Given the description of an element on the screen output the (x, y) to click on. 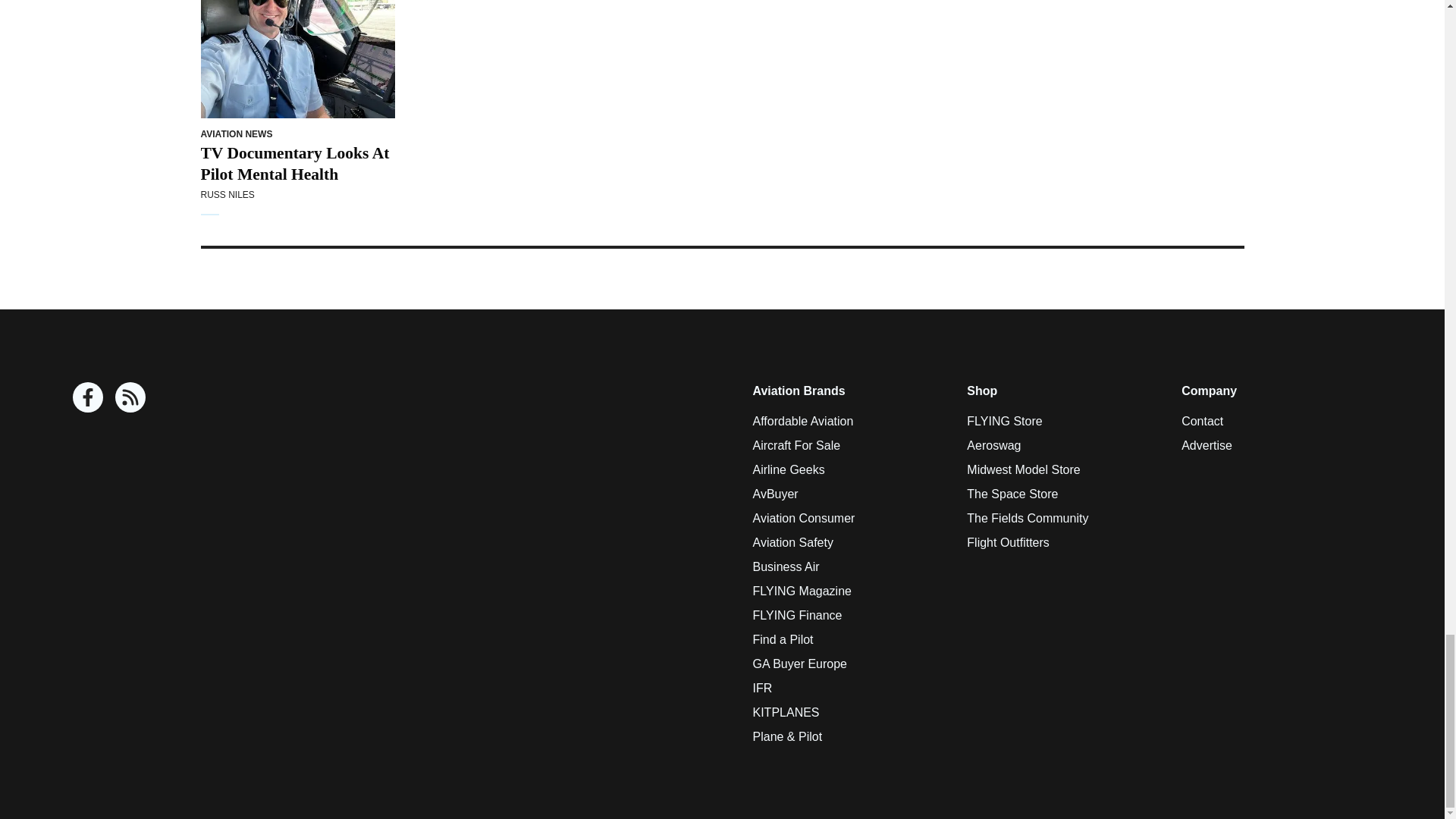
Facebook (87, 397)
TV Documentary Looks At Pilot Mental Health (297, 58)
Rss (130, 397)
